Given the description of an element on the screen output the (x, y) to click on. 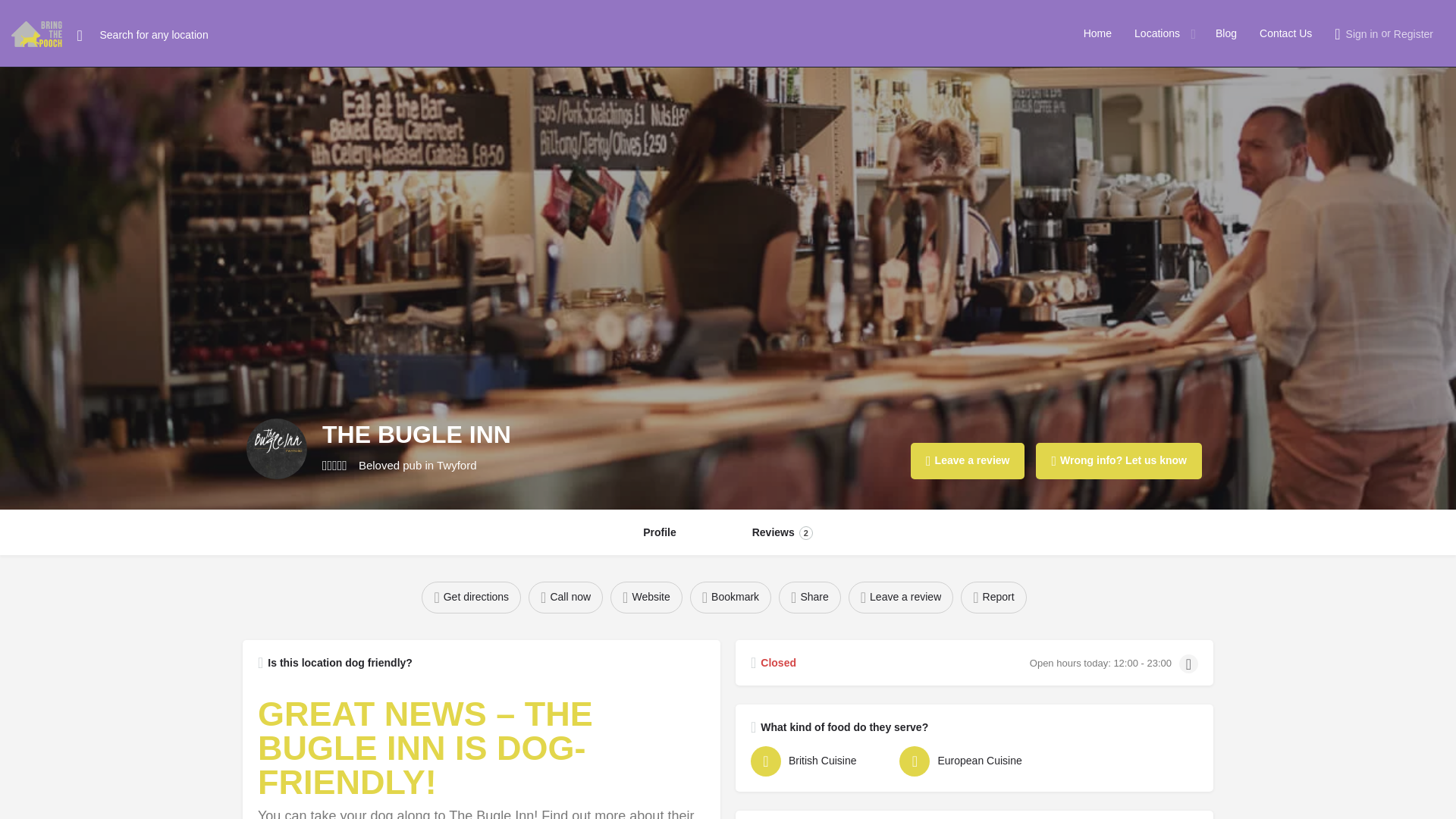
Locations (1156, 32)
Home (1097, 32)
Sign in (1361, 33)
Contact Us (1285, 32)
Toggle weekly schedule (1188, 663)
Blog (1225, 32)
Register (1412, 33)
bugle inn logo winchester (276, 448)
